Given the description of an element on the screen output the (x, y) to click on. 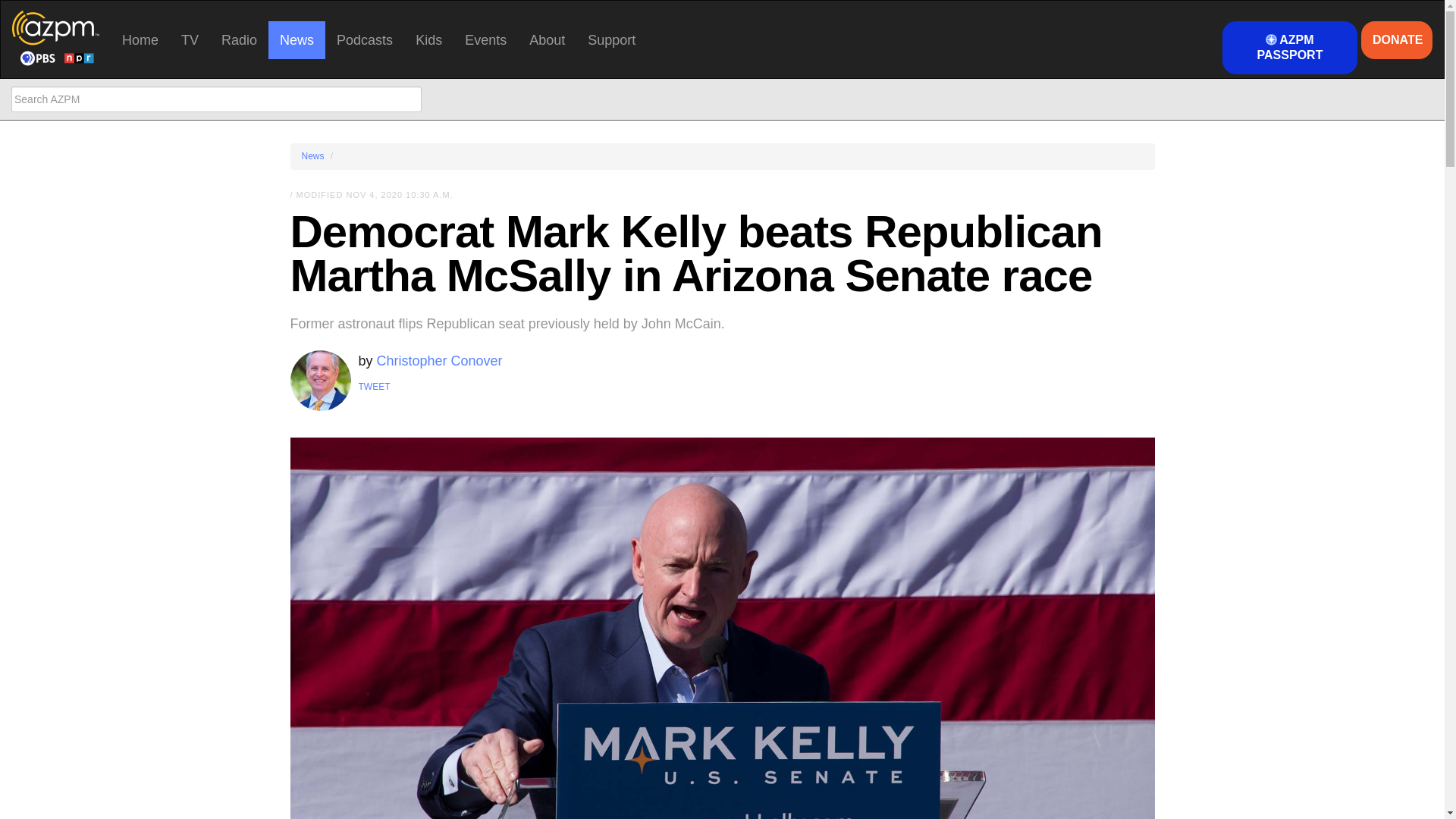
Radio (238, 39)
Events (485, 39)
Podcasts (364, 39)
TV (189, 39)
Kids (428, 39)
About (547, 39)
Home (140, 39)
News (295, 39)
